Given the description of an element on the screen output the (x, y) to click on. 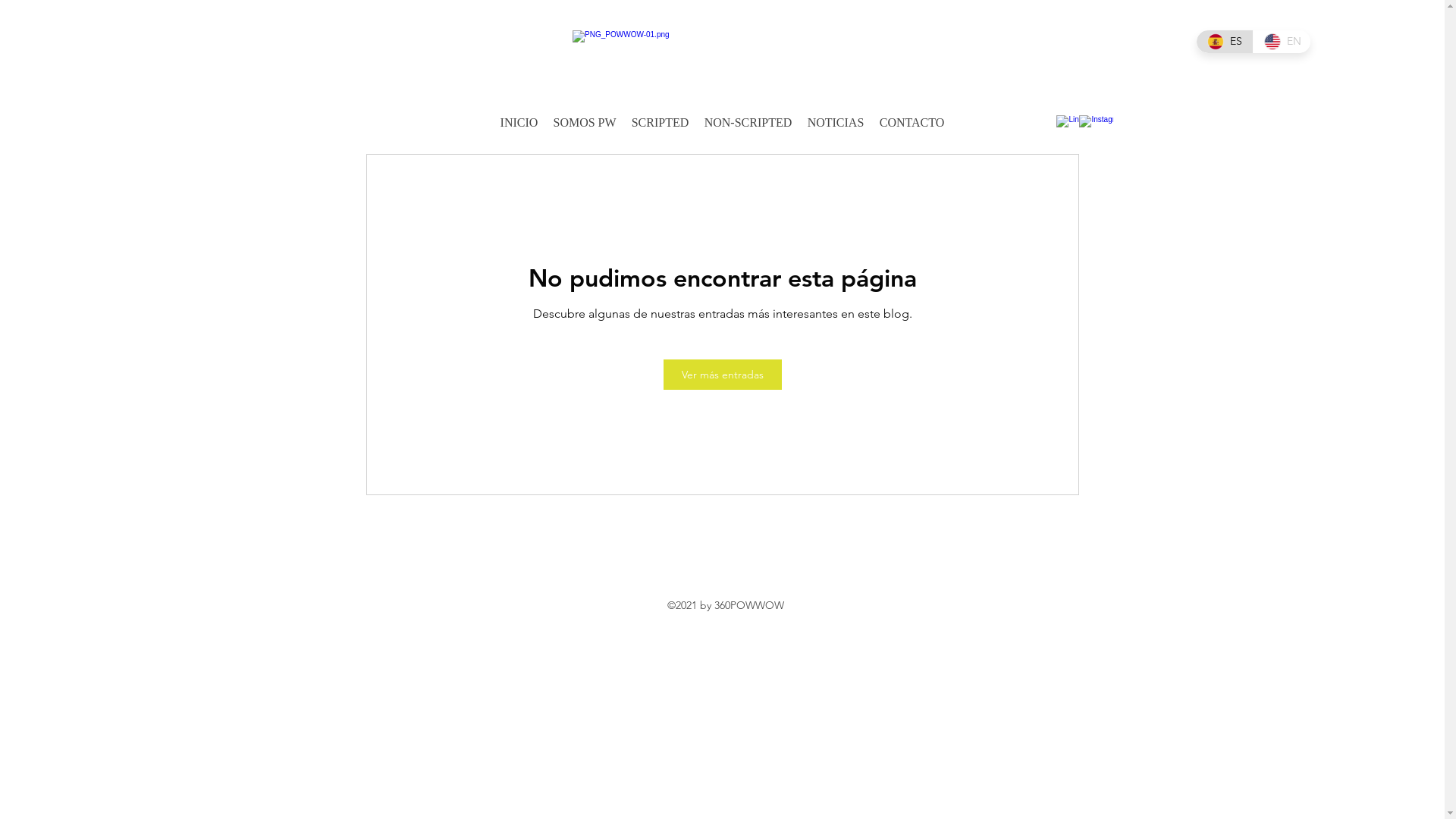
ES Element type: text (1224, 41)
INICIO Element type: text (518, 122)
SCRIPTED Element type: text (659, 122)
NON-SCRIPTED Element type: text (747, 122)
EN Element type: text (1281, 41)
SOMOS PW Element type: text (584, 122)
NOTICIAS Element type: text (835, 122)
CONTACTO Element type: text (911, 122)
